Given the description of an element on the screen output the (x, y) to click on. 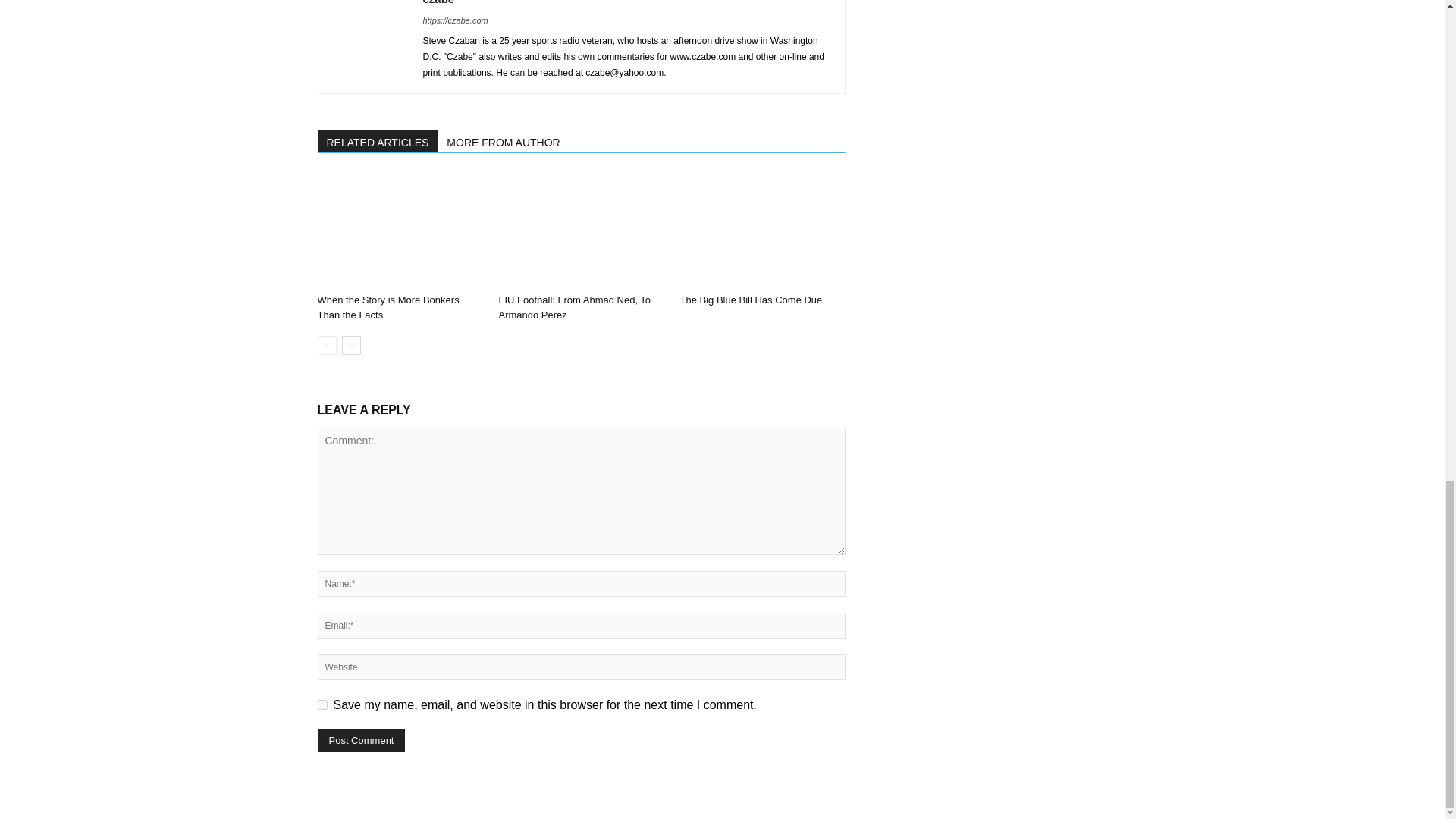
yes (321, 705)
Post Comment (360, 740)
When the Story is More Bonkers Than the Facts (399, 230)
